Given the description of an element on the screen output the (x, y) to click on. 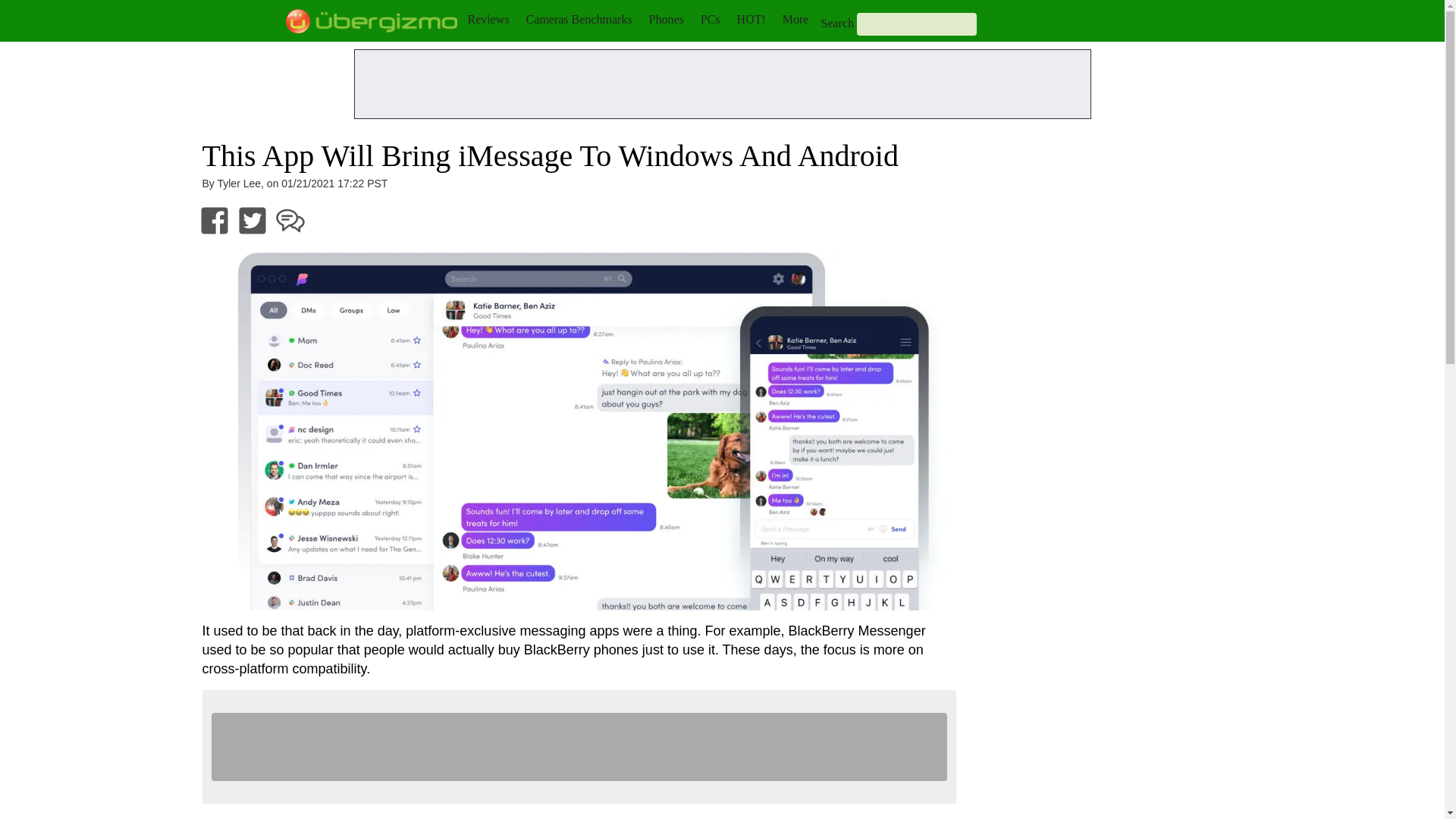
Phones (666, 19)
Cameras Benchmarks (578, 19)
PCs (710, 19)
Reviews (487, 19)
